Given the description of an element on the screen output the (x, y) to click on. 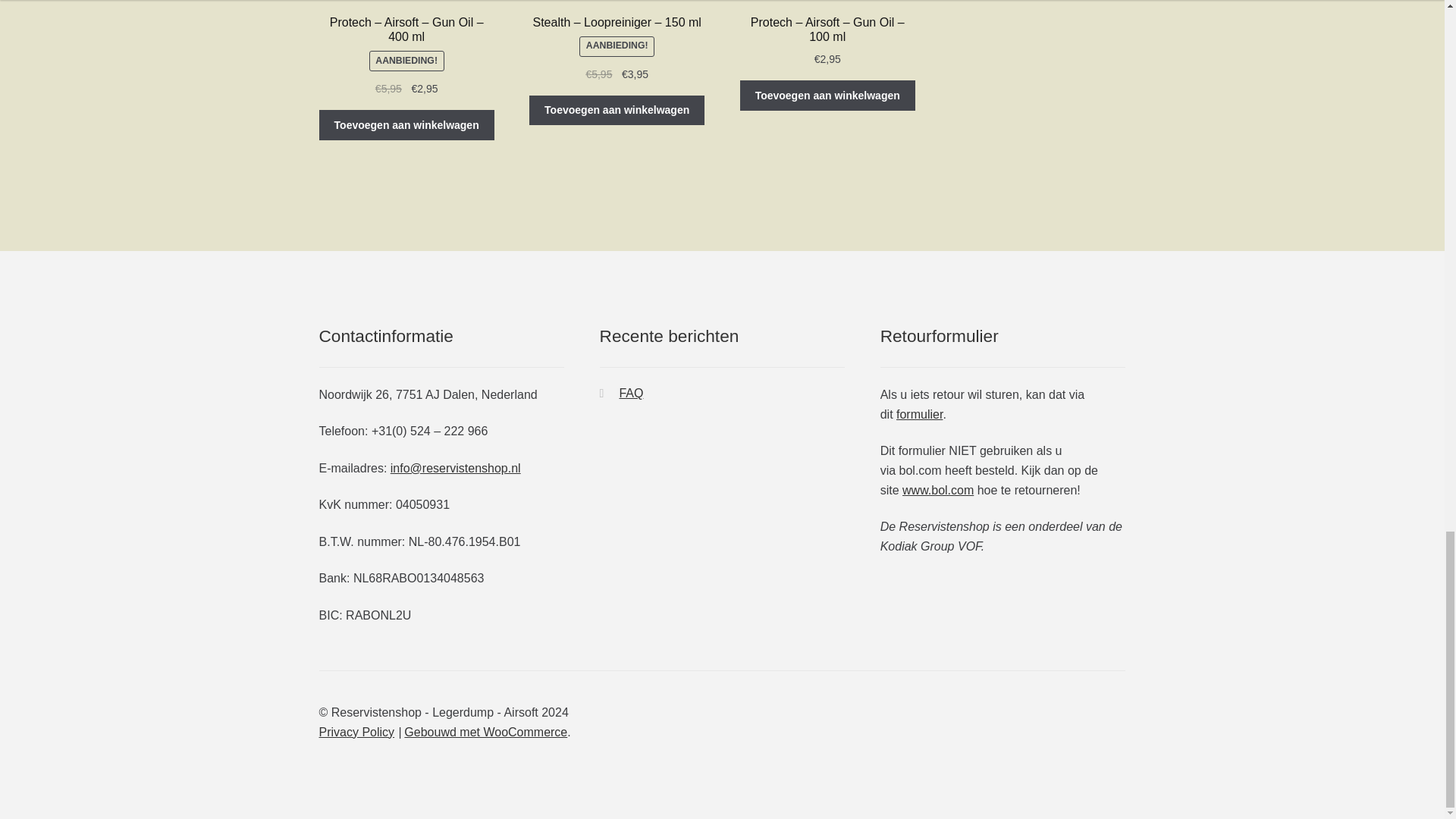
WooCommerce - Het beste eCommerceplatform voor WordPress (485, 731)
Toevoegen aan winkelwagen (406, 124)
Toevoegen aan winkelwagen (616, 110)
Toevoegen aan winkelwagen (827, 95)
